Given the description of an element on the screen output the (x, y) to click on. 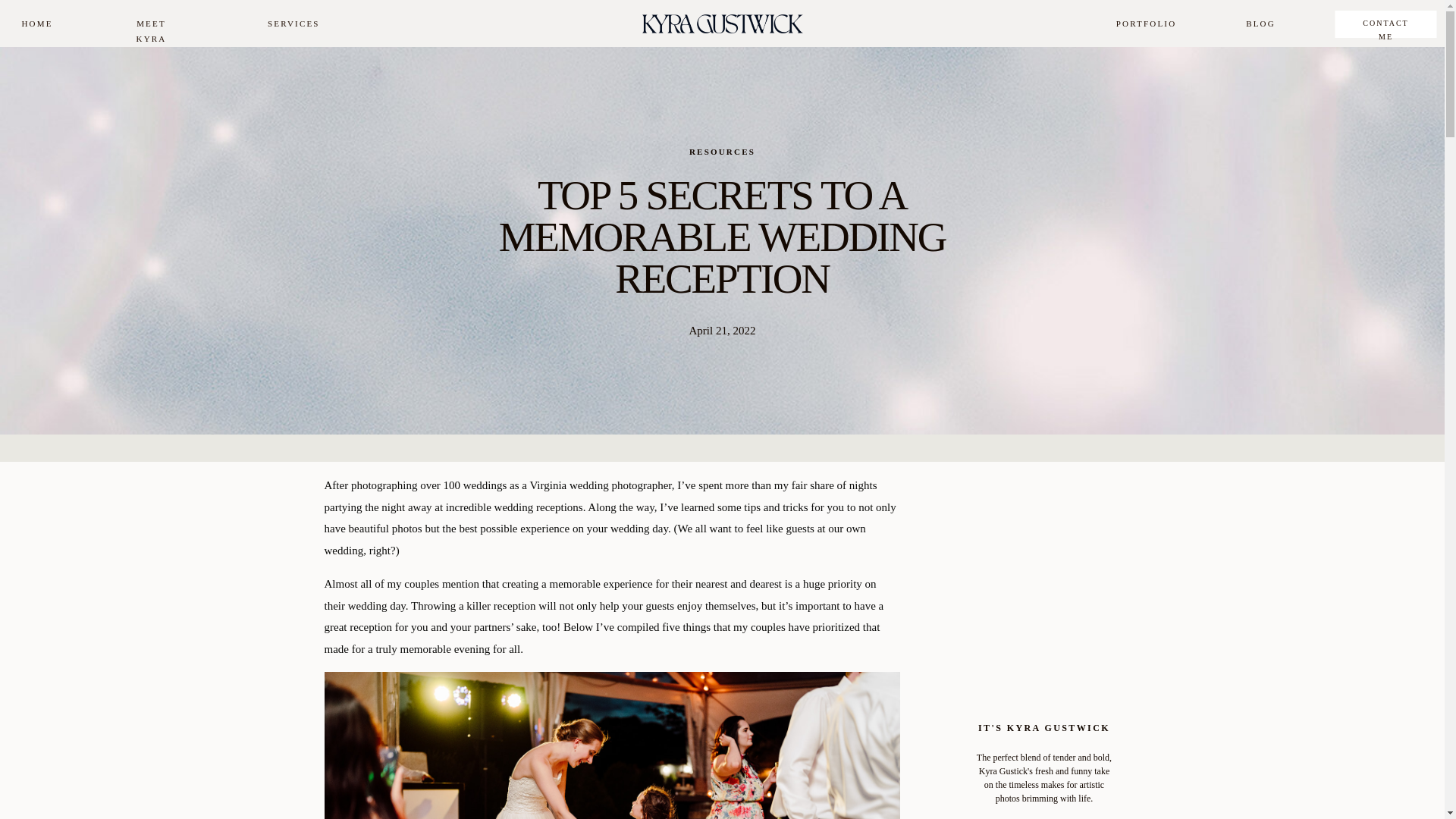
PORTFOLIO (1145, 23)
MEET KYRA (150, 23)
BLOG (1260, 23)
RESOURCES (721, 151)
HOME (36, 23)
CONTACT ME (1385, 23)
SERVICES (292, 23)
